Given the description of an element on the screen output the (x, y) to click on. 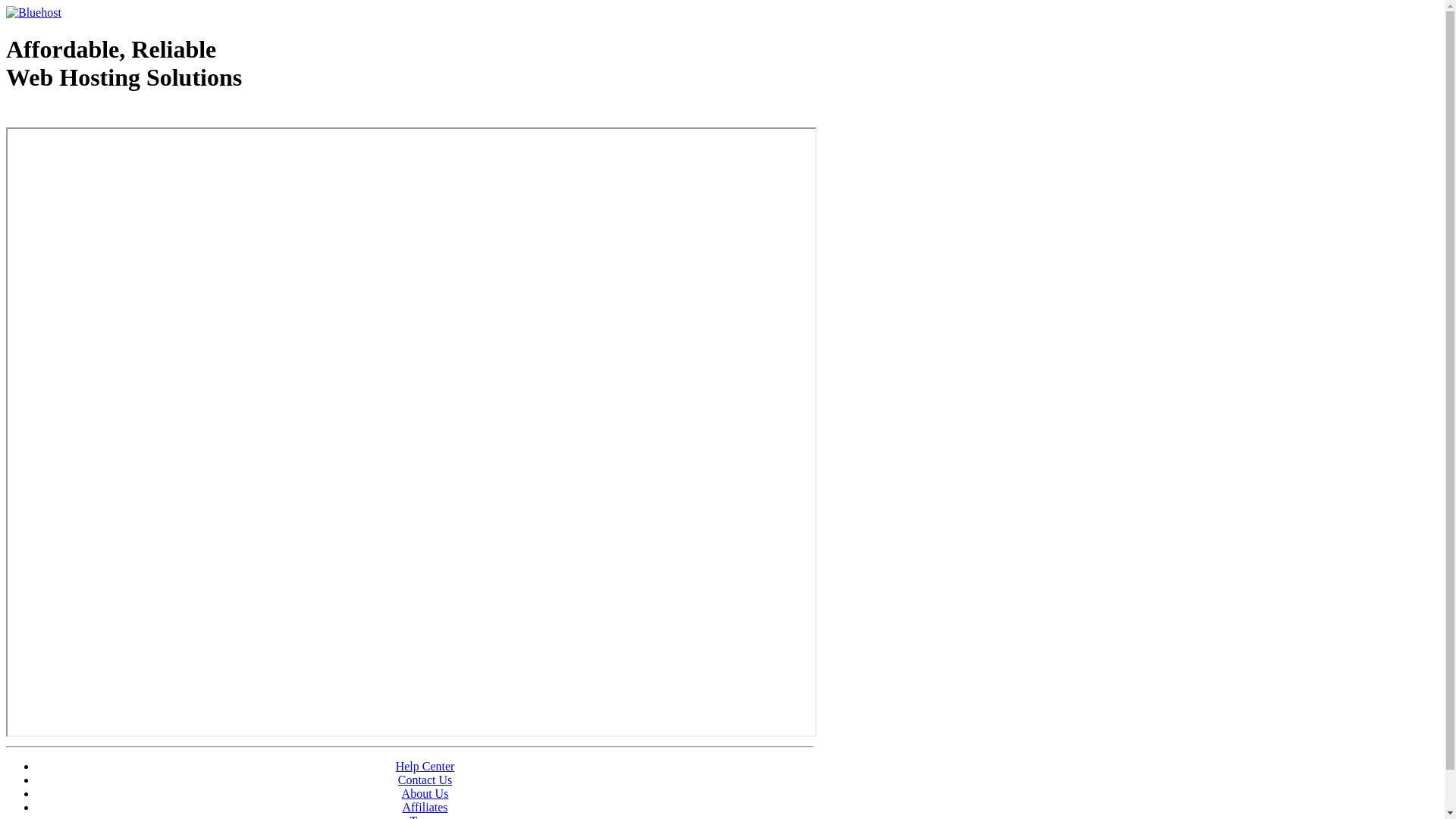
Web Hosting - courtesy of www.bluehost.com Element type: text (94, 115)
Help Center Element type: text (425, 765)
Affiliates Element type: text (424, 806)
Contact Us Element type: text (425, 779)
About Us Element type: text (424, 793)
